Given the description of an element on the screen output the (x, y) to click on. 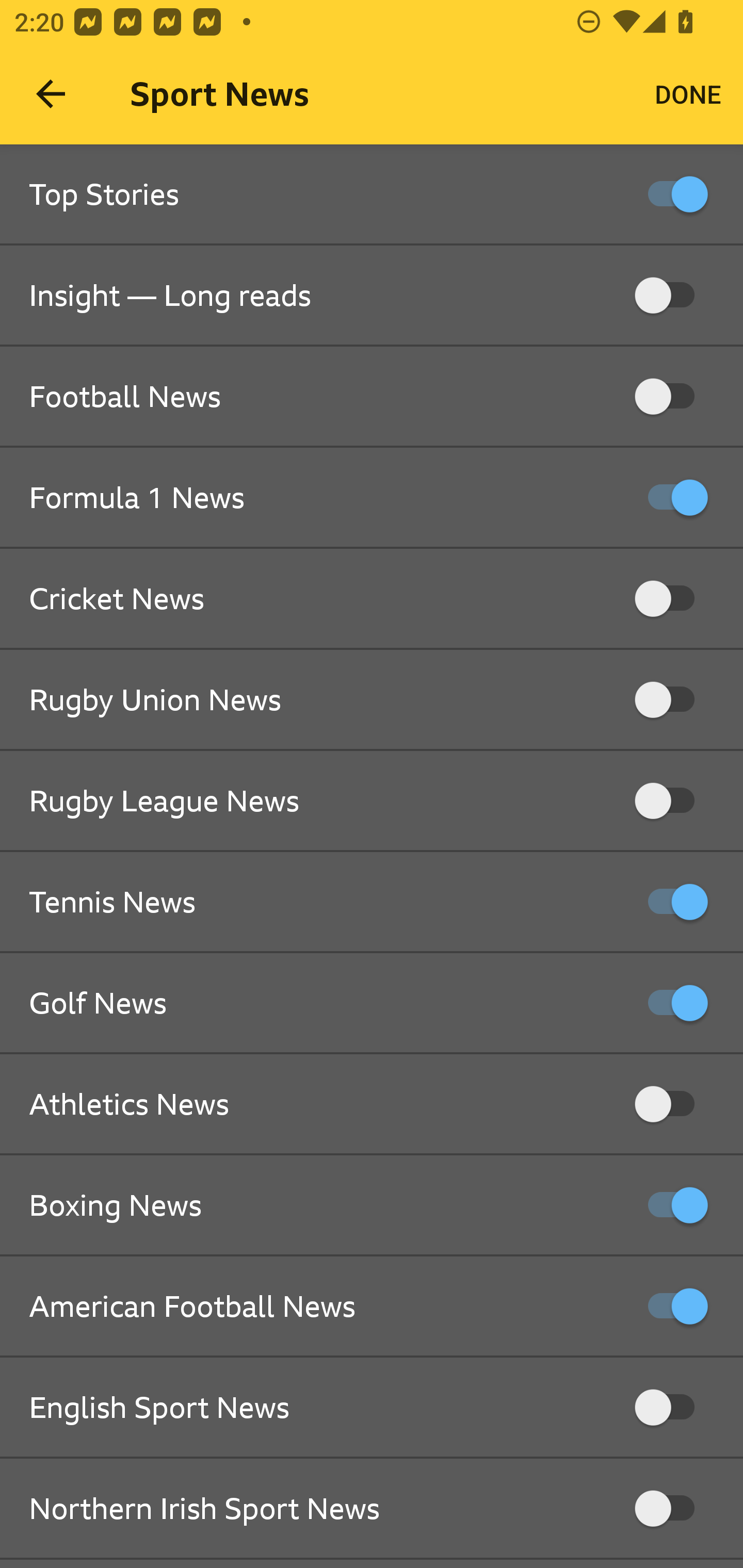
Navigate up (50, 93)
DONE (688, 93)
Top Stories, ON, Switch Top Stories (371, 195)
Football News, OFF, Switch Football News (371, 397)
Formula 1 News, ON, Switch Formula 1 News (371, 498)
Cricket News, OFF, Switch Cricket News (371, 598)
Rugby Union News, OFF, Switch Rugby Union News (371, 700)
Rugby League News, OFF, Switch Rugby League News (371, 801)
Tennis News, ON, Switch Tennis News (371, 902)
Golf News, ON, Switch Golf News (371, 1003)
Athletics News, OFF, Switch Athletics News (371, 1104)
Boxing News, ON, Switch Boxing News (371, 1205)
English Sport News, OFF, Switch English Sport News (371, 1407)
